Given the description of an element on the screen output the (x, y) to click on. 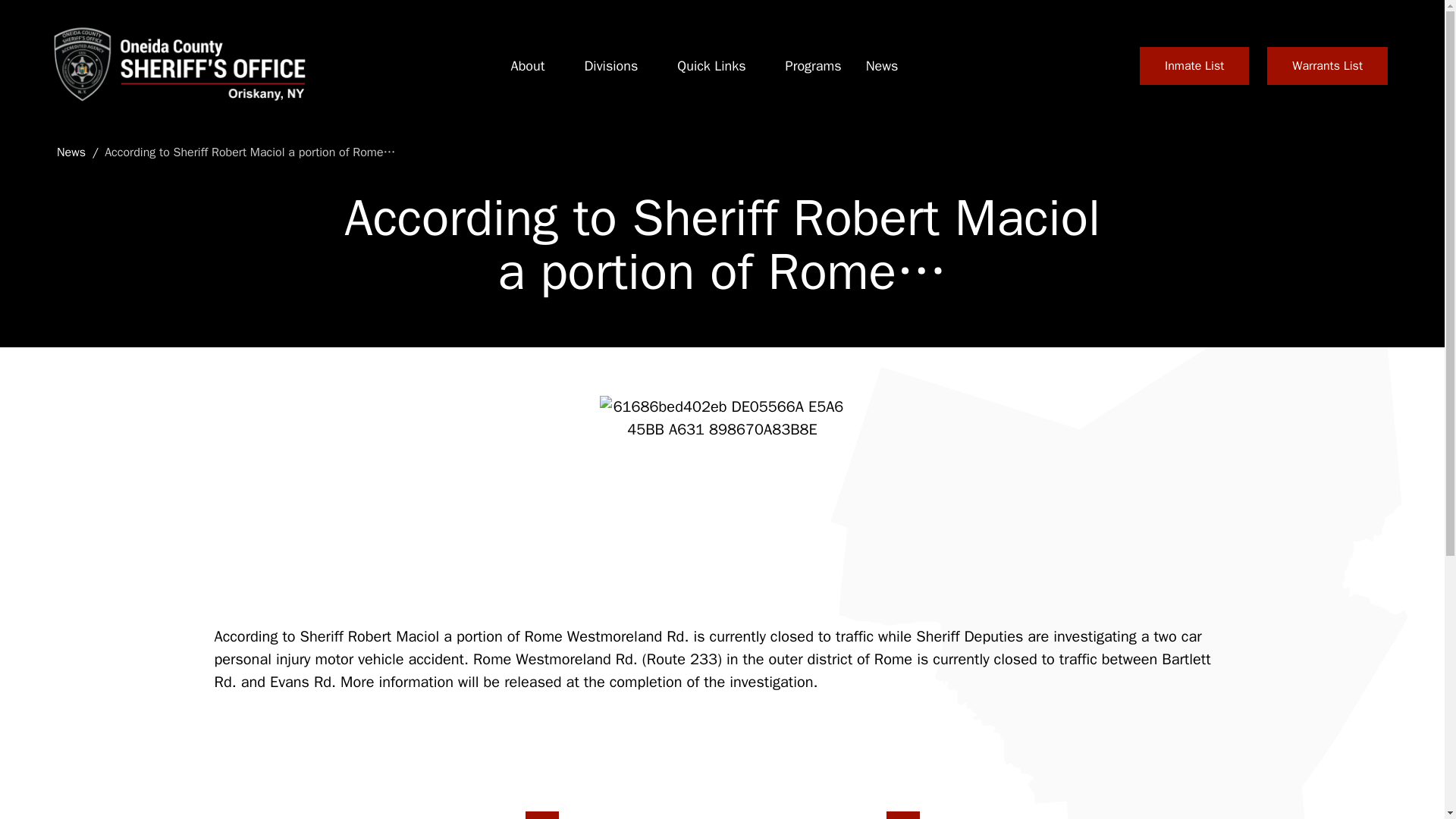
Divisions (610, 65)
Programs (813, 65)
Open search form (1102, 65)
Quick Links (711, 65)
About (527, 65)
Quick Links (711, 65)
Oneida County Sheriff's Office (177, 65)
News (882, 65)
About (527, 65)
Divisions (610, 65)
